Given the description of an element on the screen output the (x, y) to click on. 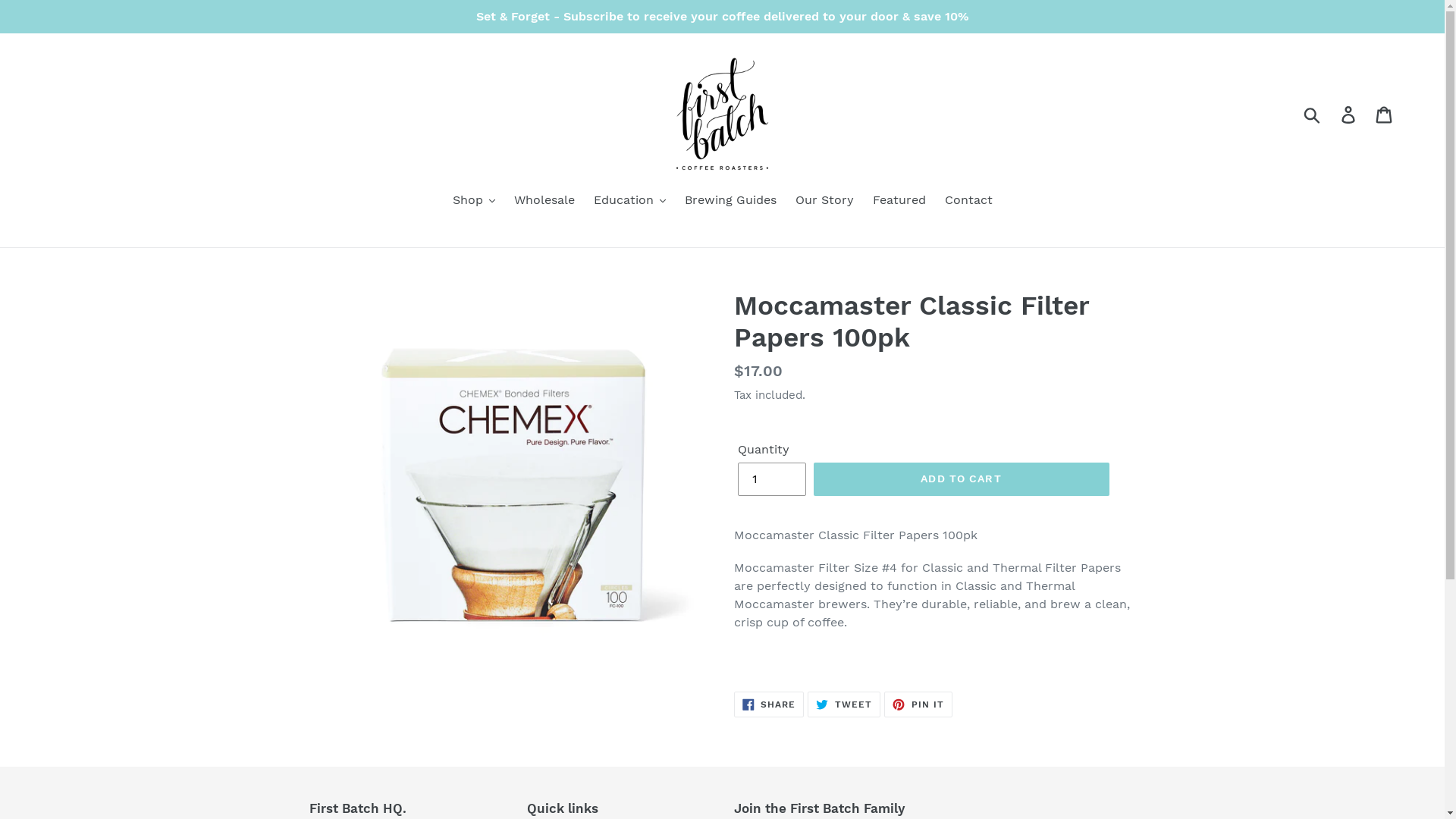
SHARE
SHARE ON FACEBOOK Element type: text (769, 704)
Brewing Guides Element type: text (729, 201)
ADD TO CART Element type: text (960, 478)
Cart Element type: text (1384, 114)
TWEET
TWEET ON TWITTER Element type: text (843, 704)
Submit Element type: text (1312, 113)
Our Story Element type: text (823, 201)
Log in Element type: text (1349, 114)
Featured Element type: text (898, 201)
Wholesale Element type: text (544, 201)
PIN IT
PIN ON PINTEREST Element type: text (918, 704)
Contact Element type: text (968, 201)
